Given the description of an element on the screen output the (x, y) to click on. 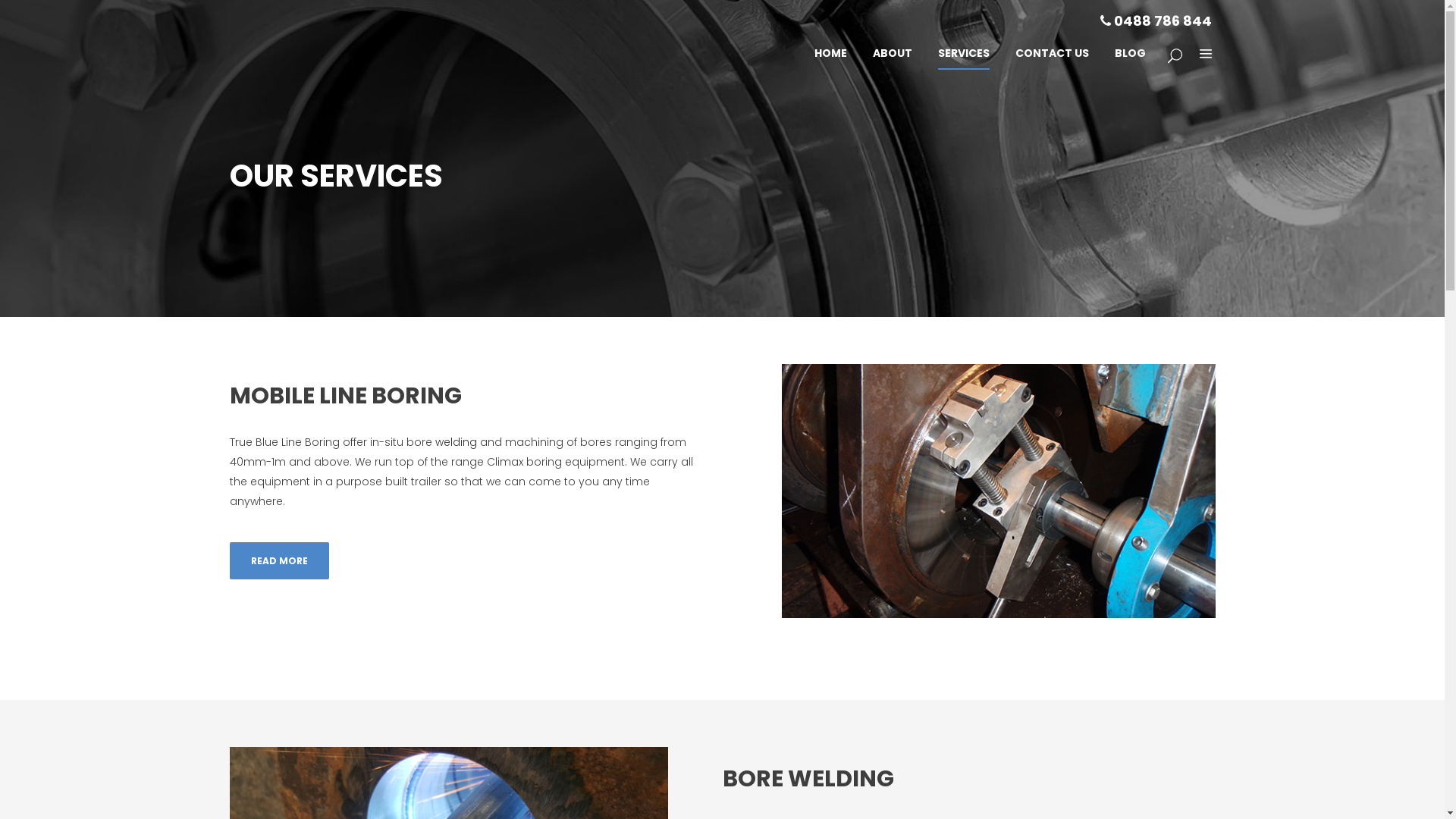
ABOUT Element type: text (892, 53)
welding Element type: text (455, 441)
CONTACT US Element type: text (1051, 53)
0488 786 844 Element type: text (1155, 20)
READ MORE Element type: text (278, 560)
HOME Element type: text (829, 53)
SERVICES Element type: text (963, 53)
BLOG Element type: text (1129, 53)
